Given the description of an element on the screen output the (x, y) to click on. 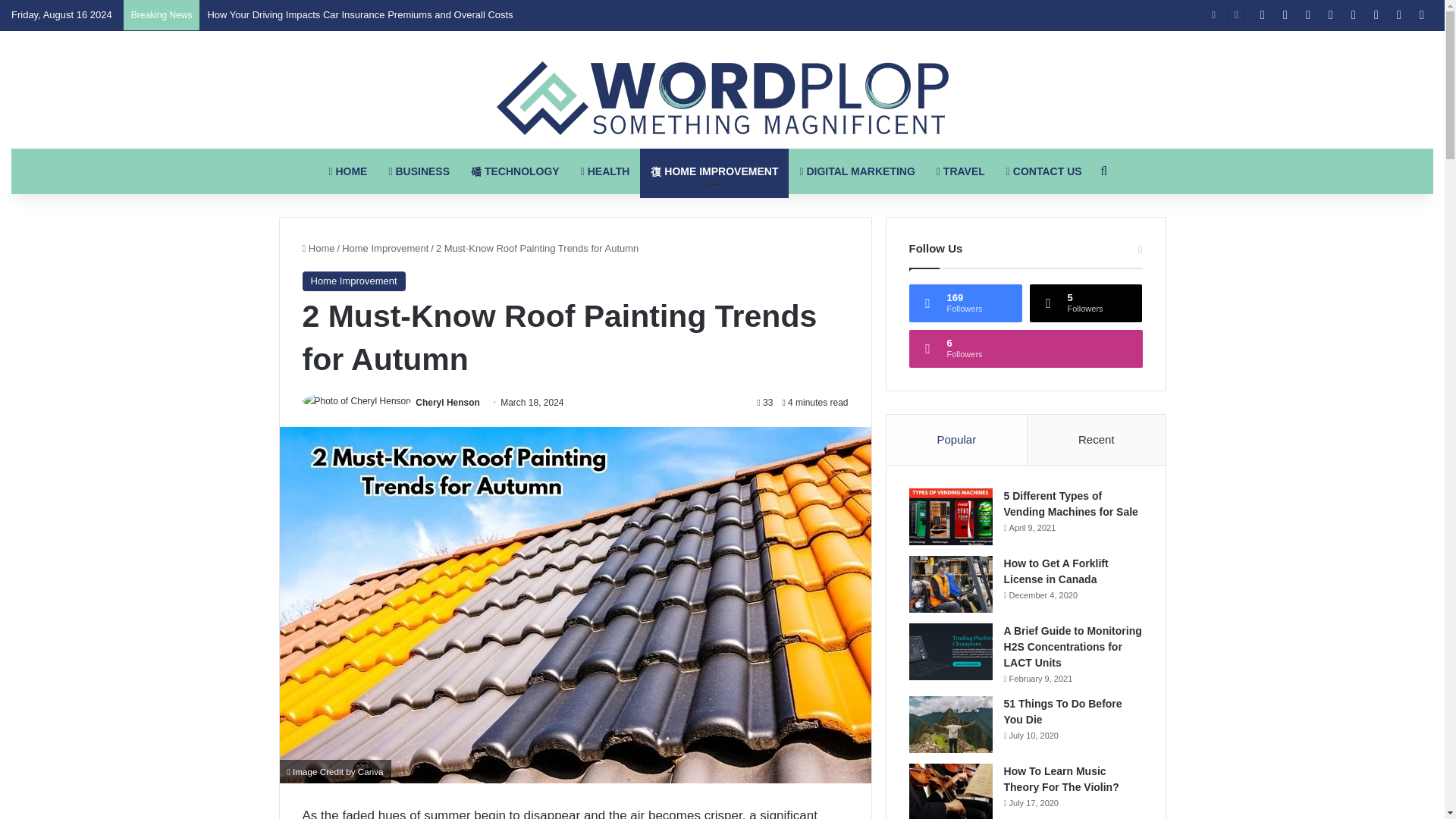
DIGITAL MARKETING (856, 171)
HEALTH (605, 171)
CONTACT US (1044, 171)
Home (317, 247)
Home Improvement (352, 281)
Home Improvement (385, 247)
TECHNOLOGY (515, 171)
Cheryl Henson (447, 402)
WordPlop (722, 98)
